Given the description of an element on the screen output the (x, y) to click on. 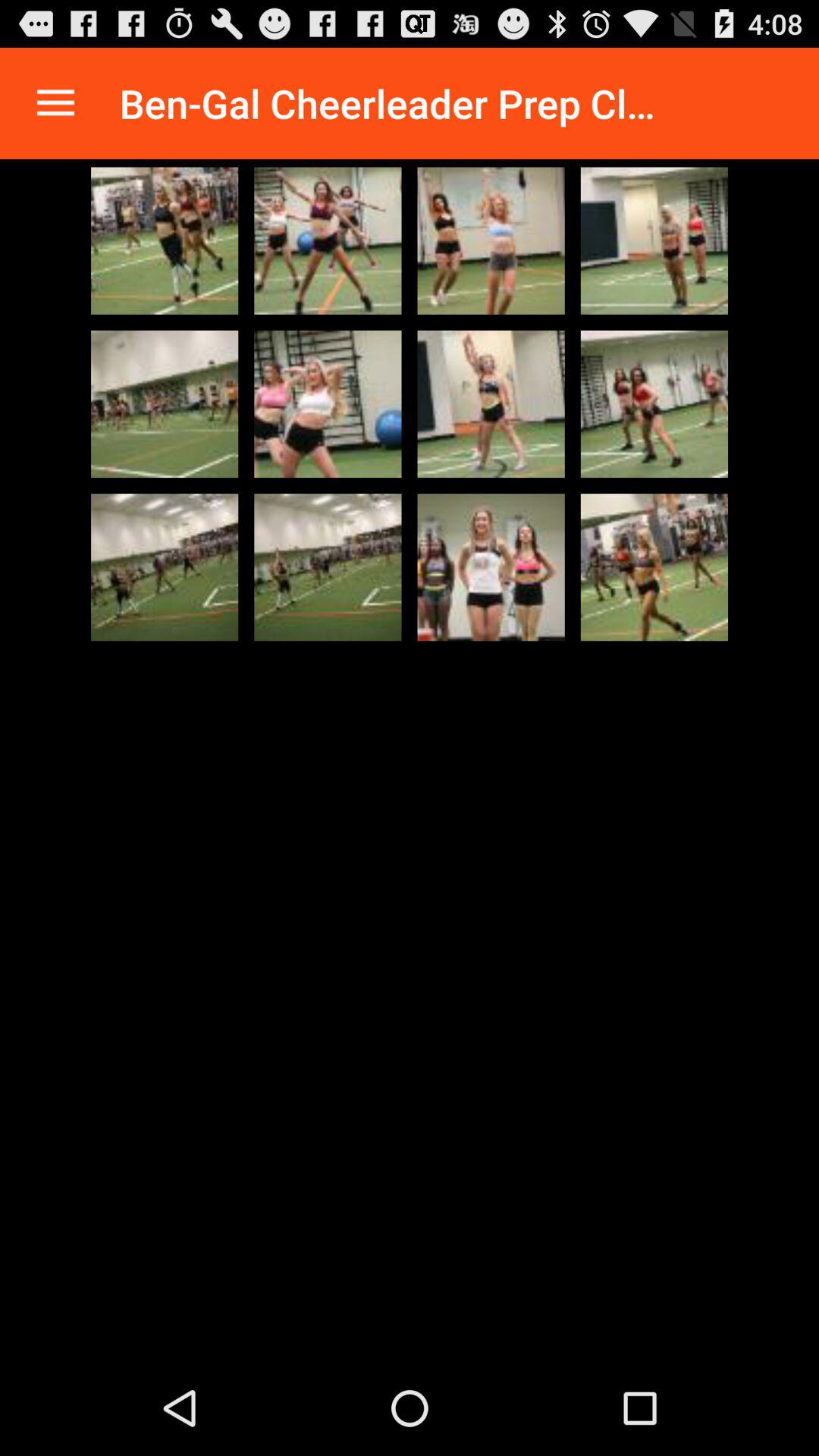
view selected video (490, 240)
